Given the description of an element on the screen output the (x, y) to click on. 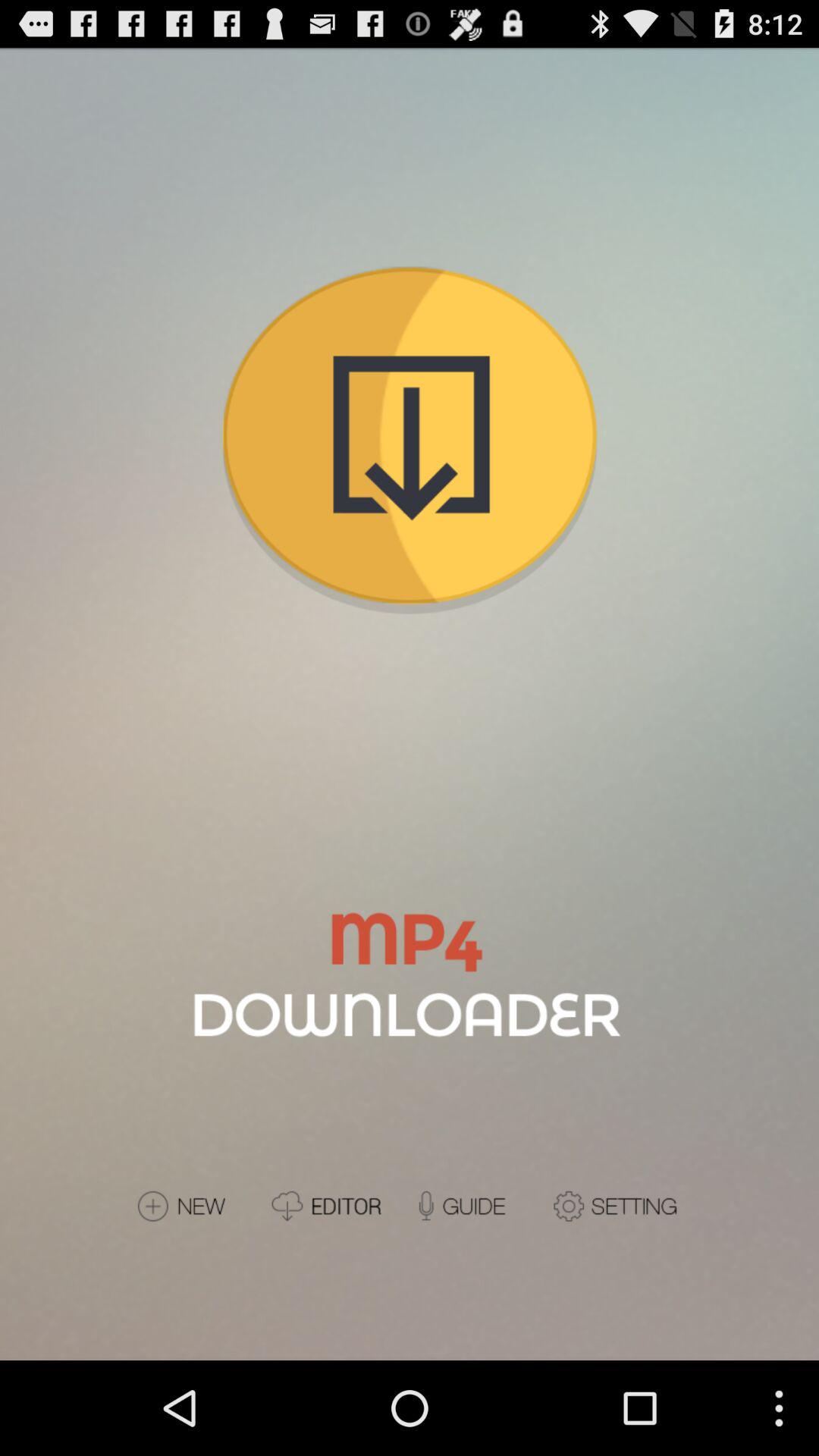
because back devicer (334, 1206)
